Given the description of an element on the screen output the (x, y) to click on. 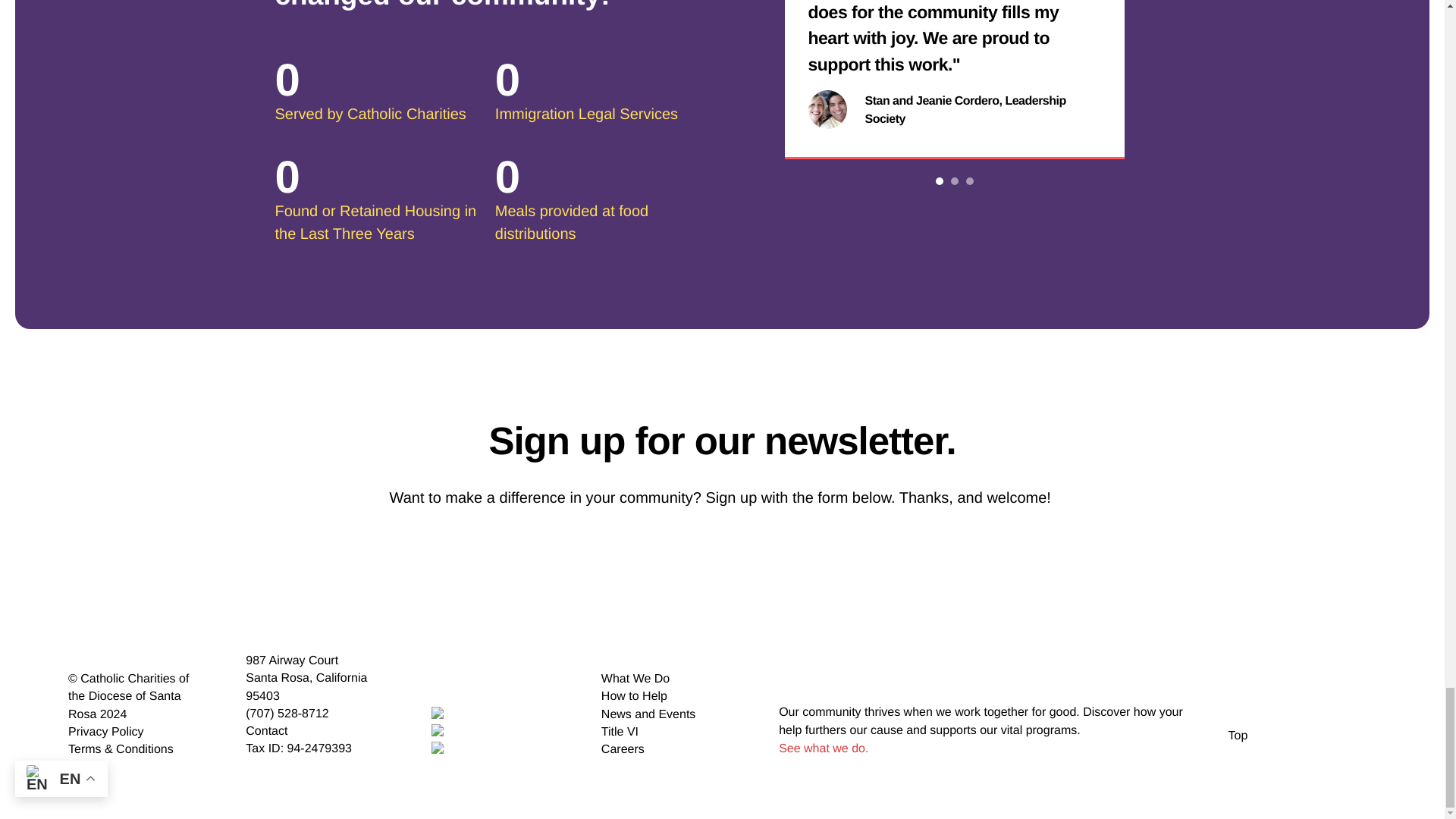
Jump to Top of Page (1238, 718)
